Given the description of an element on the screen output the (x, y) to click on. 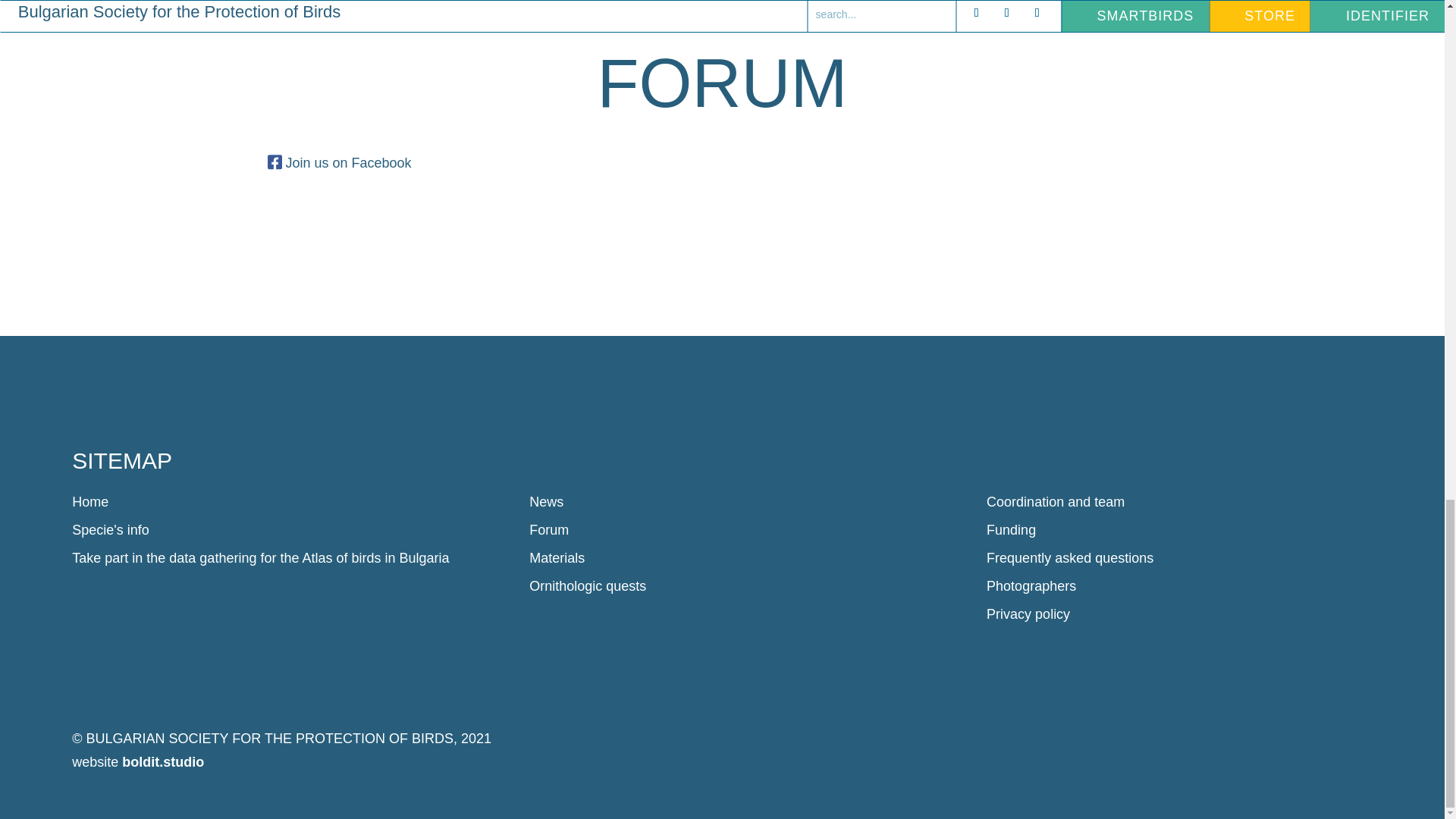
Forum (549, 529)
Materials (557, 557)
Specie's info (110, 529)
Home (89, 501)
Join us on Facebook (347, 162)
News (546, 501)
